Given the description of an element on the screen output the (x, y) to click on. 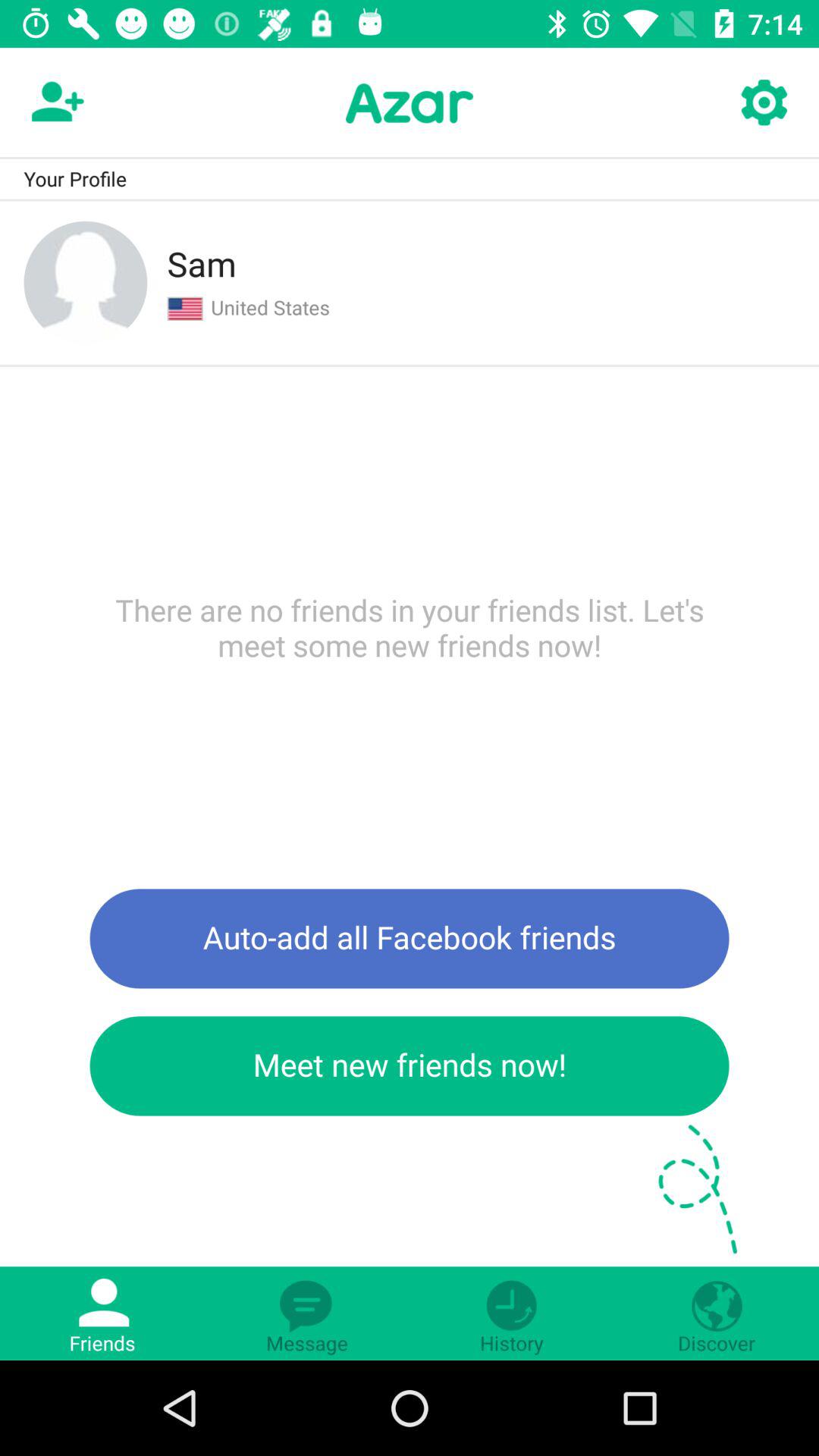
go to app settings (763, 103)
